Given the description of an element on the screen output the (x, y) to click on. 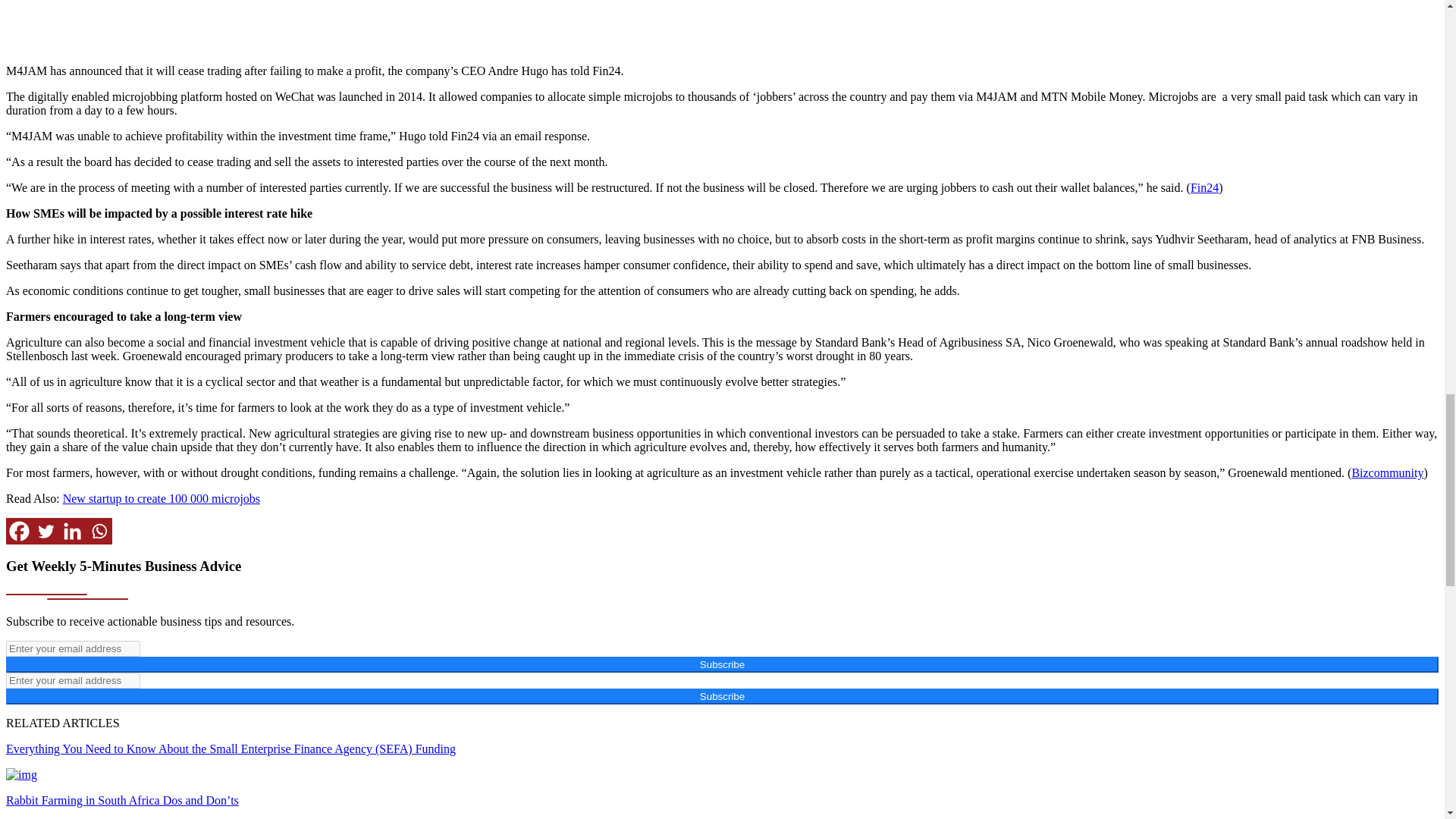
Twitter (45, 530)
Whatsapp (98, 530)
Facebook (18, 530)
New startup to create 100 000 microjobs (161, 498)
Bizcommunity (1387, 472)
Linkedin (72, 530)
Fin24 (1204, 187)
